Given the description of an element on the screen output the (x, y) to click on. 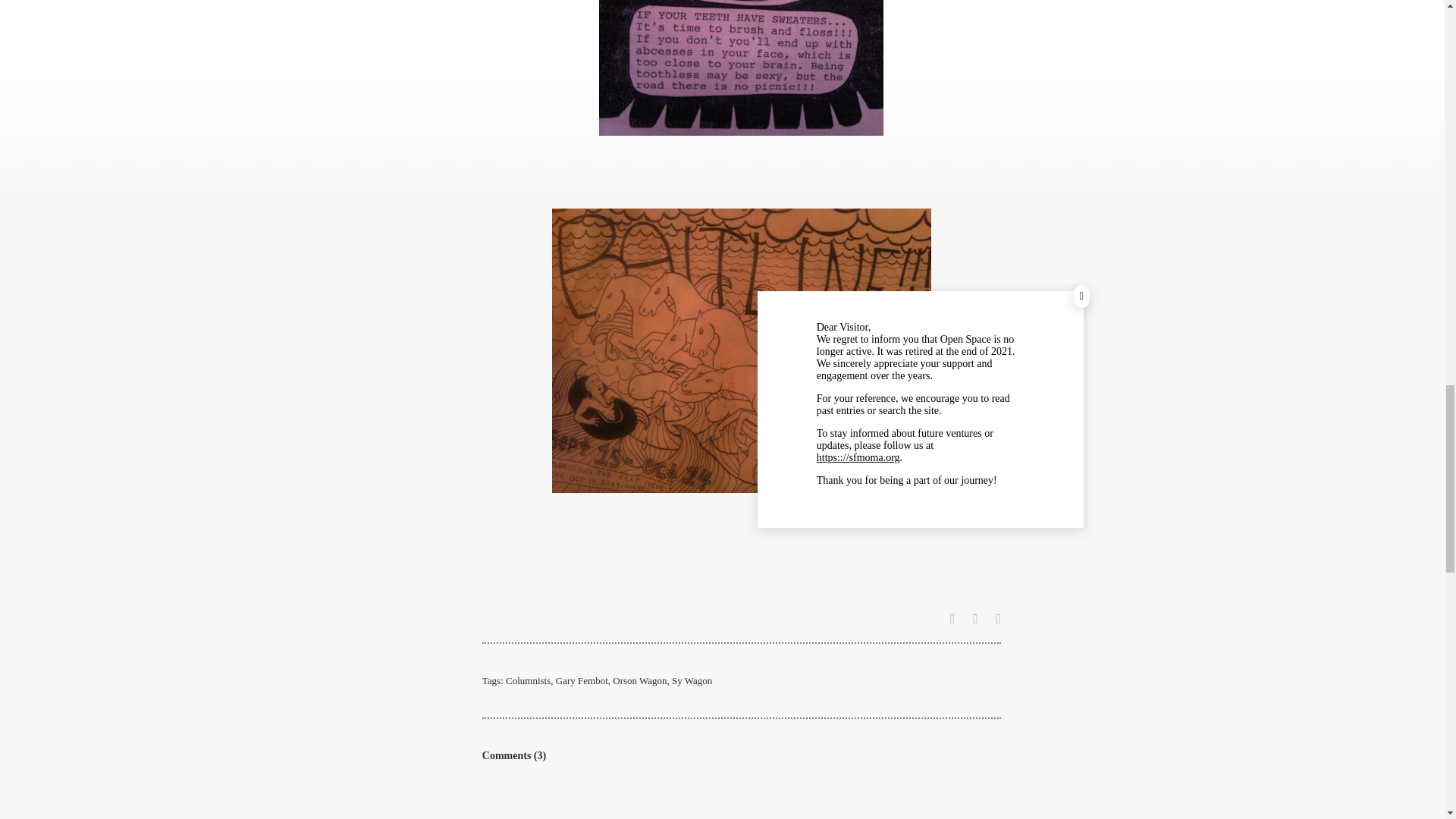
Columnists (527, 680)
Sy Wagon (691, 680)
Orson Wagon (639, 680)
Gary Fembot (582, 680)
